Given the description of an element on the screen output the (x, y) to click on. 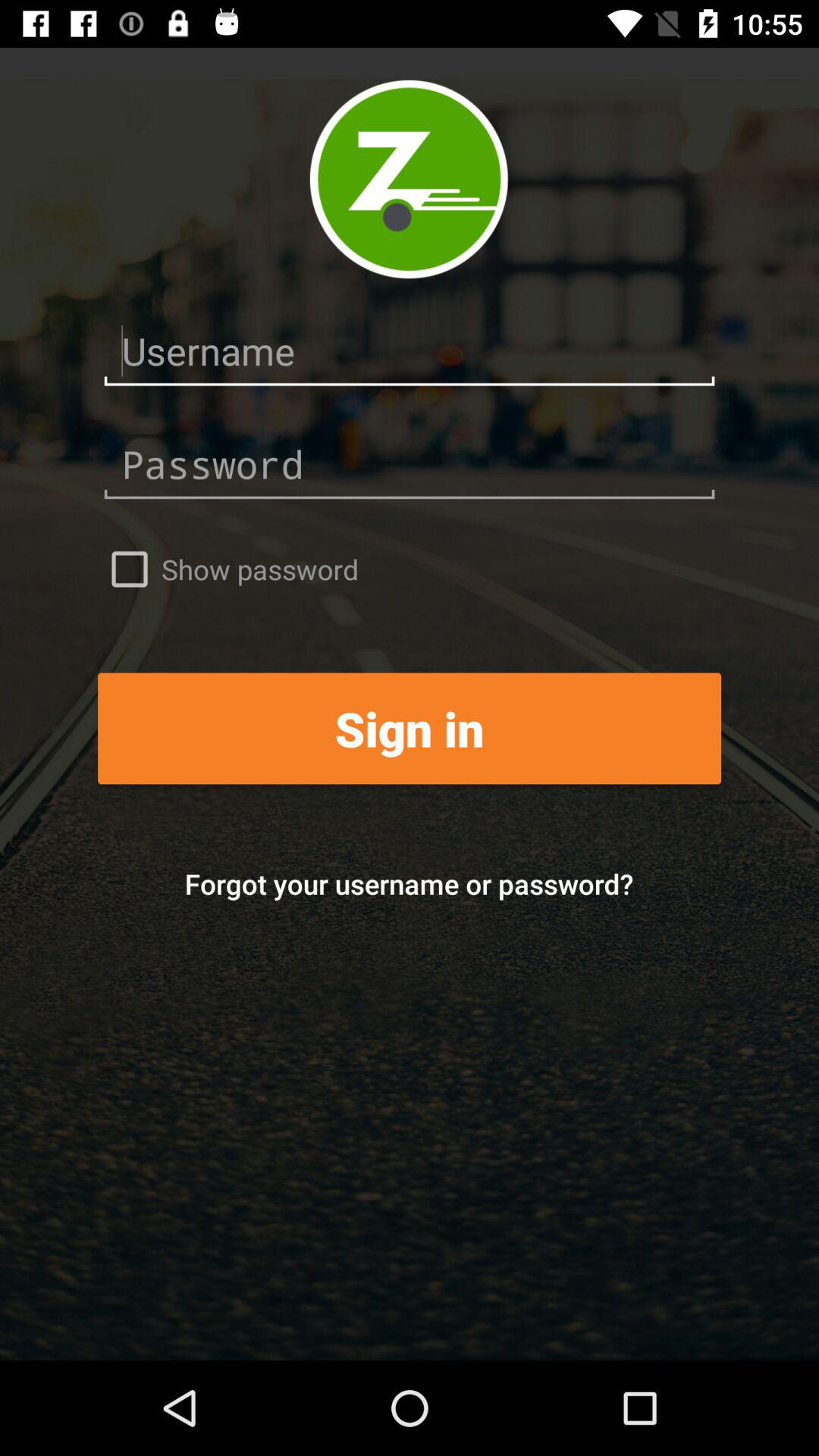
username entry (409, 351)
